Given the description of an element on the screen output the (x, y) to click on. 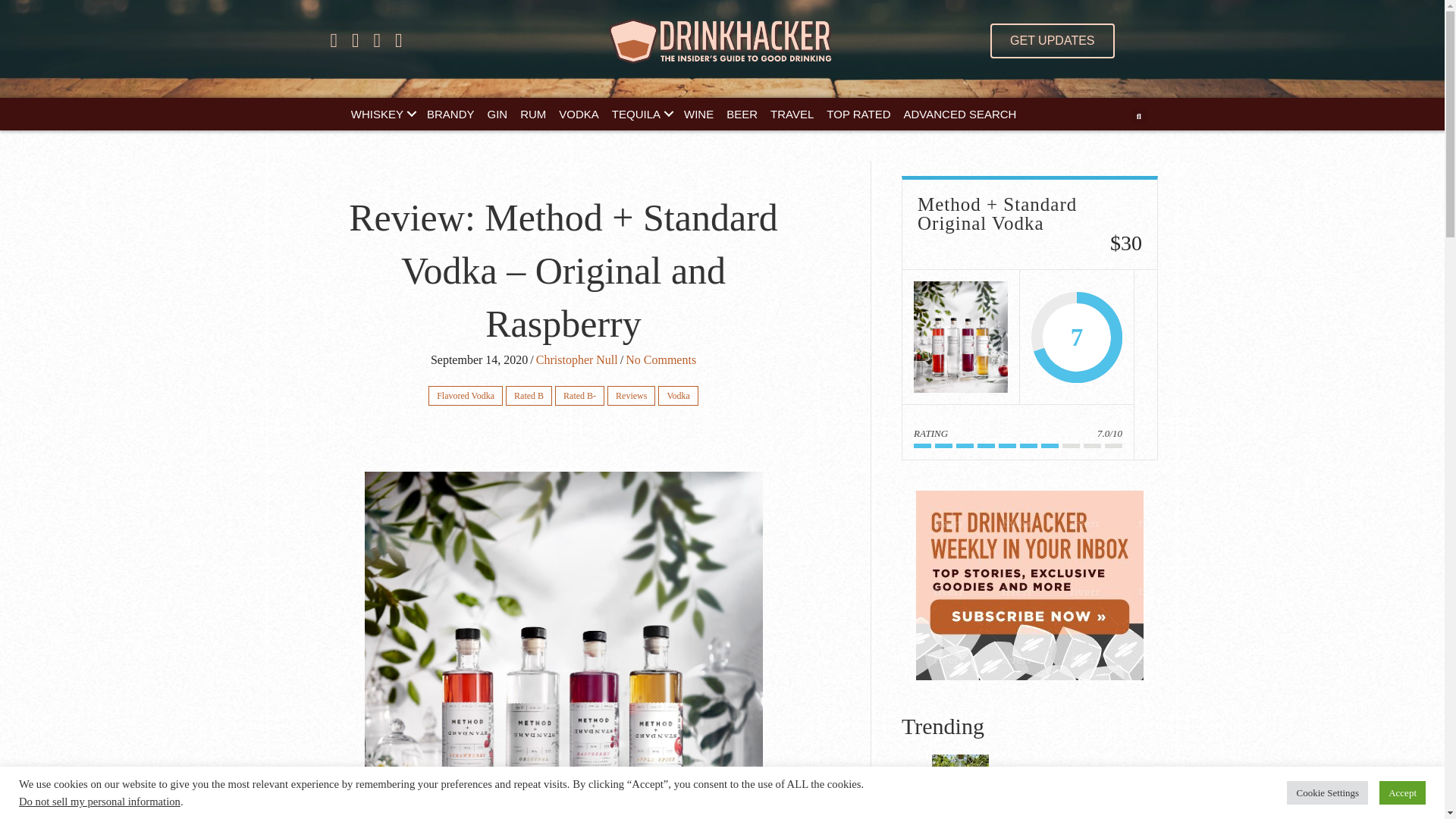
TEQUILA (641, 113)
BRANDY (450, 113)
TRAVEL (791, 113)
TOP RATED (858, 113)
WHISKEY (382, 113)
WINE (698, 113)
RUM (532, 113)
drinkhacker-logo-pinktag-transparent (721, 40)
BEER (741, 113)
ADVANCED SEARCH (960, 113)
GET UPDATES (1051, 40)
VODKA (579, 113)
GIN (496, 113)
